Given the description of an element on the screen output the (x, y) to click on. 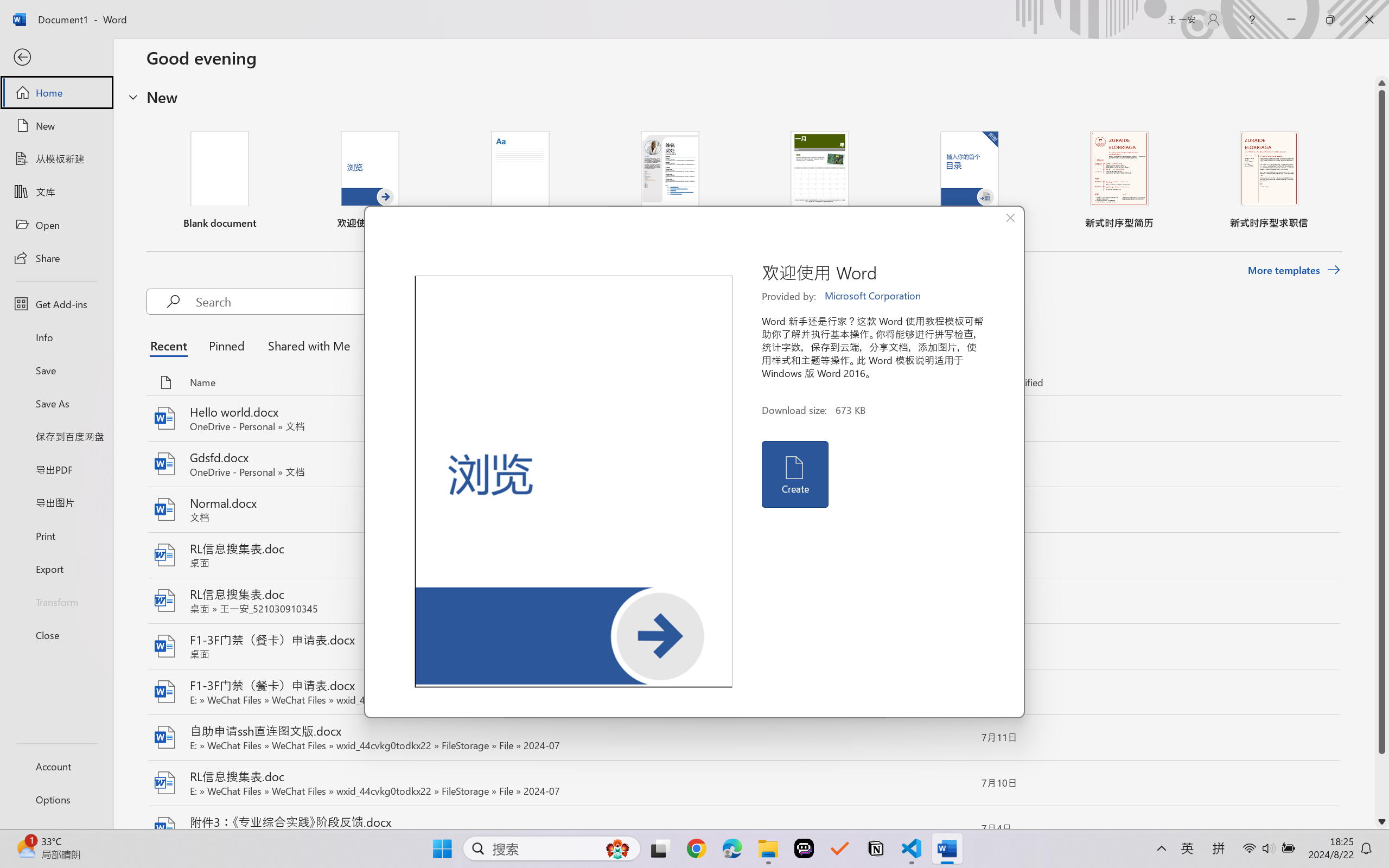
Pin this item to the list (954, 828)
Recent (171, 345)
Get Add-ins (56, 303)
Search (360, 301)
Unpin this item from the list (954, 418)
New (56, 125)
Account (56, 765)
